Given the description of an element on the screen output the (x, y) to click on. 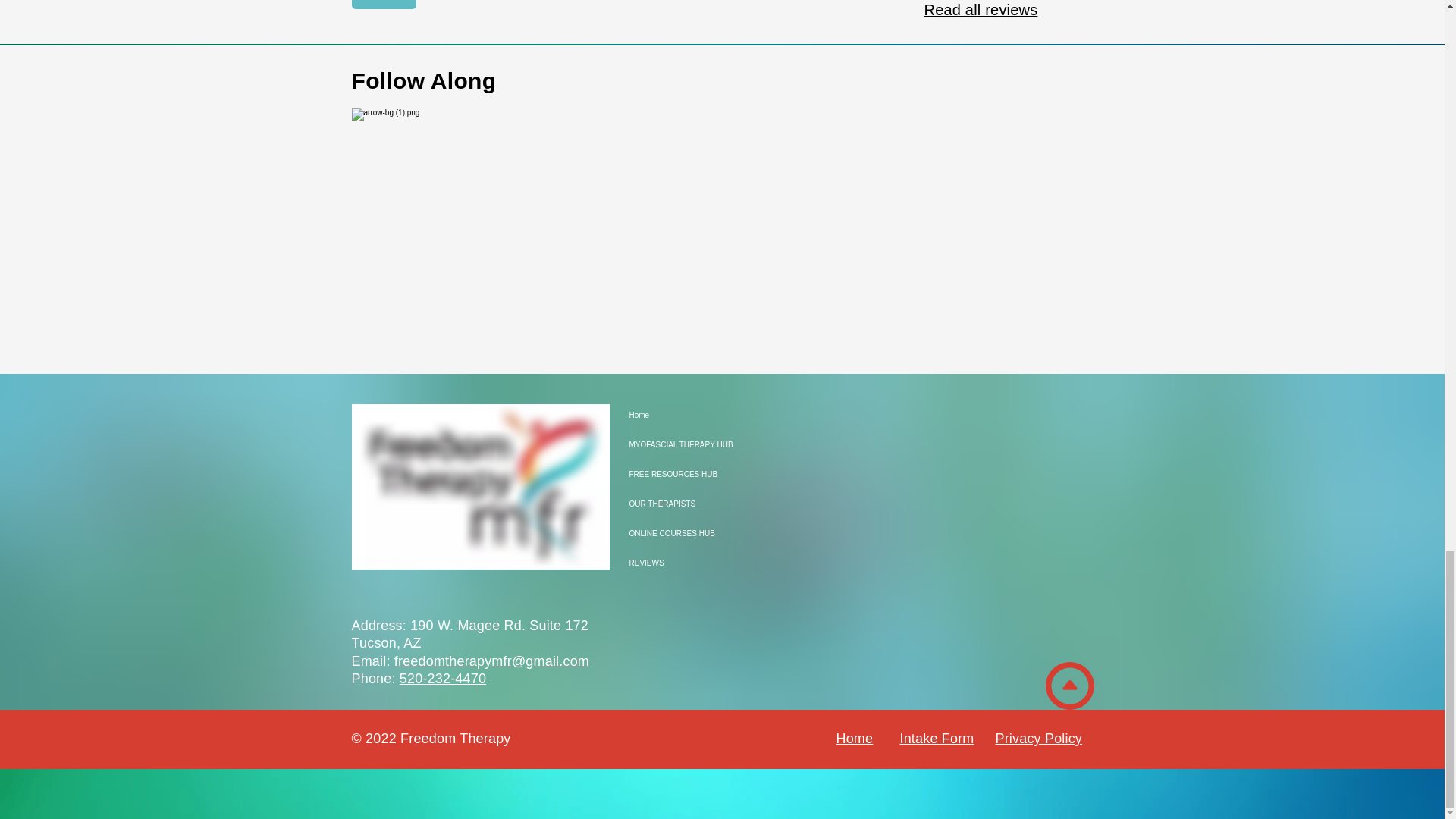
Intake Form (936, 738)
OUR THERAPISTS (682, 503)
ONLINE COURSES HUB (682, 532)
Read all reviews (979, 9)
Home (682, 414)
Send (384, 4)
REVIEWS (682, 562)
Home (853, 738)
Privacy Policy (1037, 738)
MYOFASCIAL THERAPY HUB (682, 444)
